Given the description of an element on the screen output the (x, y) to click on. 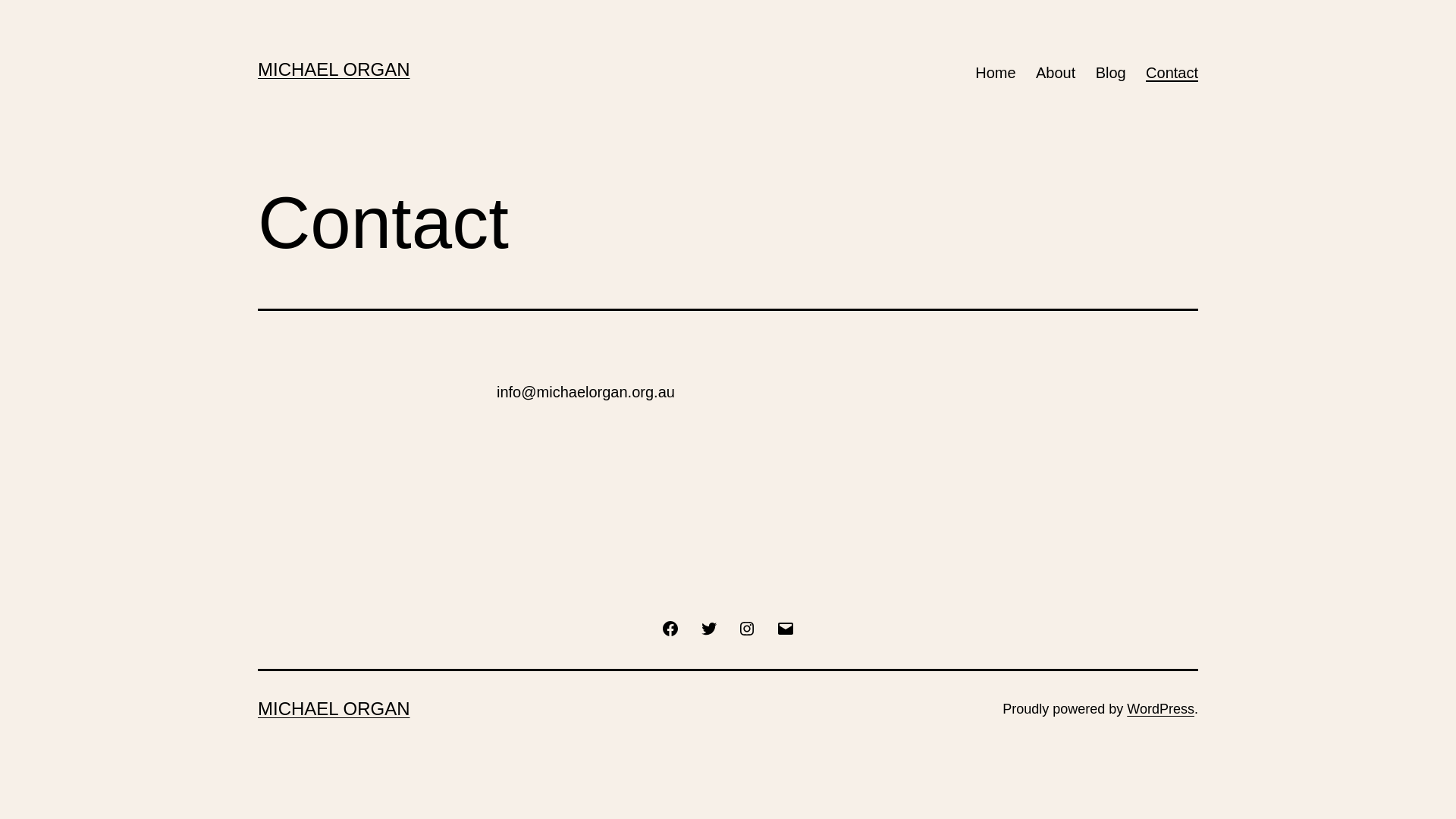
About Element type: text (1055, 72)
Twitter Element type: text (709, 627)
Instagram Element type: text (746, 627)
WordPress Element type: text (1160, 708)
Contact Element type: text (1171, 72)
Home Element type: text (995, 72)
Blog Element type: text (1110, 72)
Email Element type: text (784, 627)
Facebook Element type: text (670, 627)
MICHAEL ORGAN Element type: text (333, 69)
MICHAEL ORGAN Element type: text (333, 708)
